Given the description of an element on the screen output the (x, y) to click on. 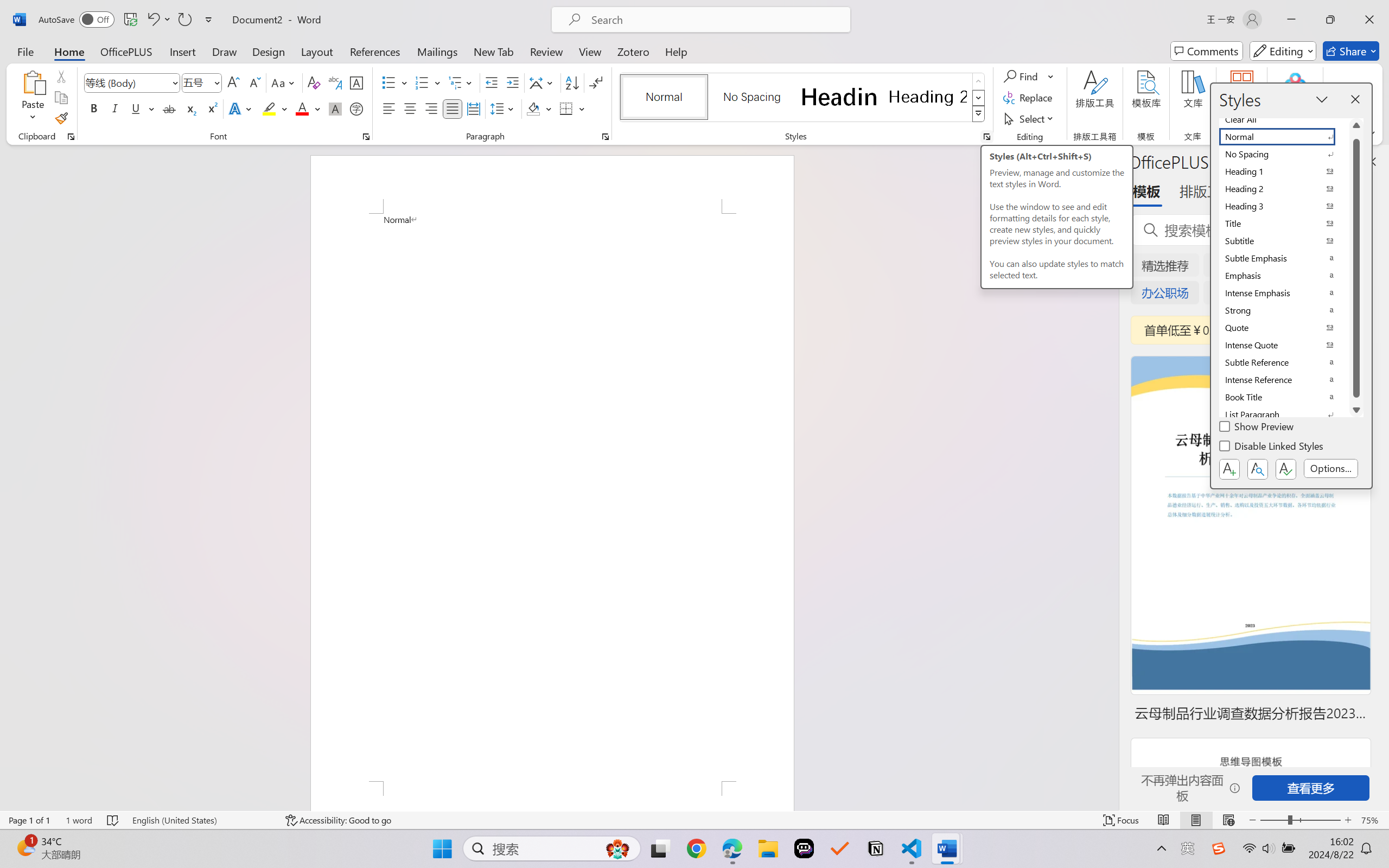
Intense Reference (1283, 379)
Superscript (210, 108)
Intense Quote (1283, 345)
Row up (978, 81)
Zoom In (1348, 819)
Font Color (308, 108)
Home (69, 51)
Font Size (196, 82)
Strikethrough (169, 108)
Insert (182, 51)
Paragraph... (605, 136)
AutomationID: BadgeAnchorLargeTicker (24, 847)
Mode (1283, 50)
Paste (33, 97)
AutoSave (76, 19)
